Given the description of an element on the screen output the (x, y) to click on. 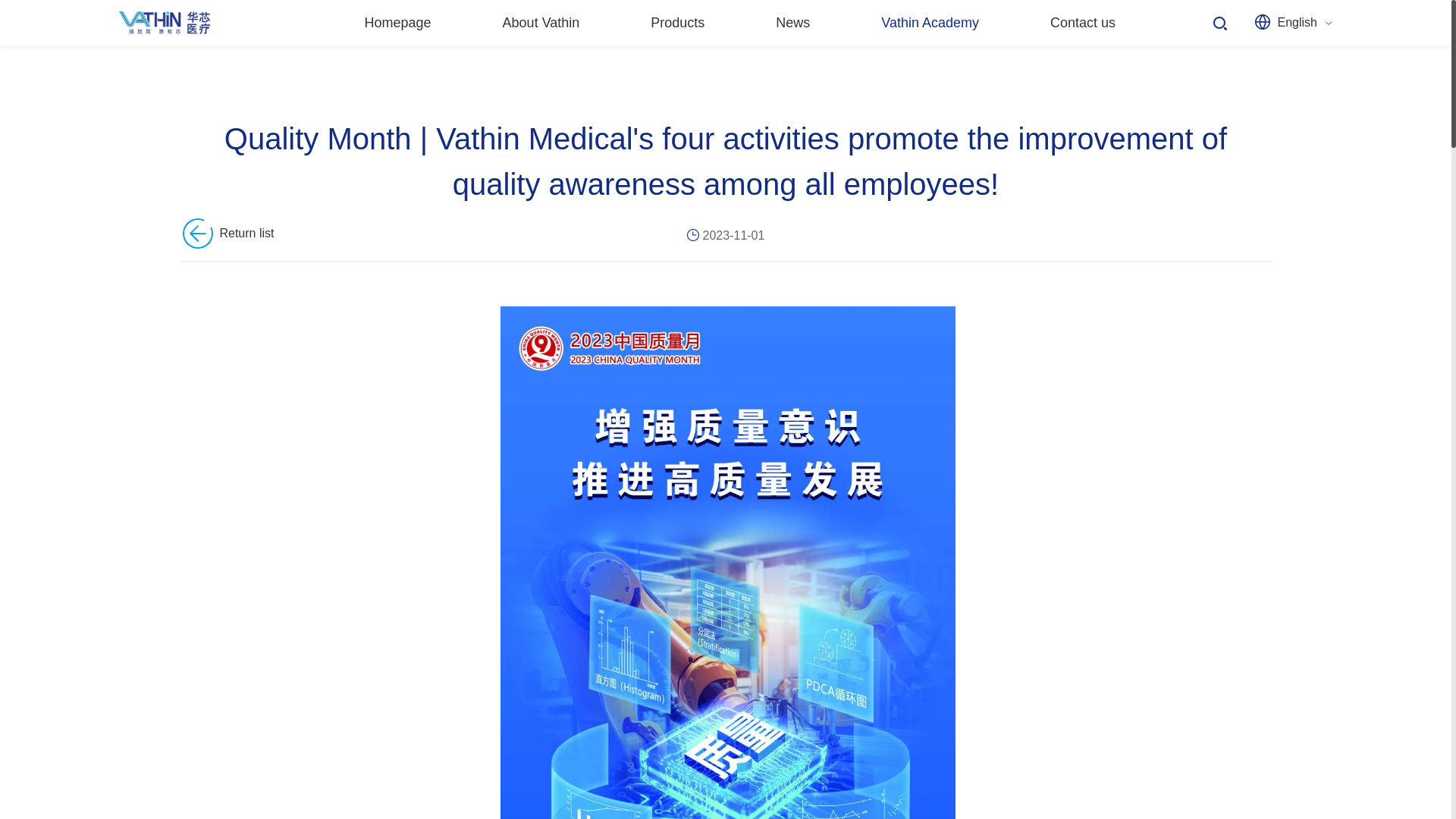
English (1297, 21)
Vathin Academy (930, 22)
About Vathin (541, 22)
Homepage (397, 22)
Contact us (1083, 22)
News (792, 22)
Products (677, 22)
Return list (226, 233)
